Given the description of an element on the screen output the (x, y) to click on. 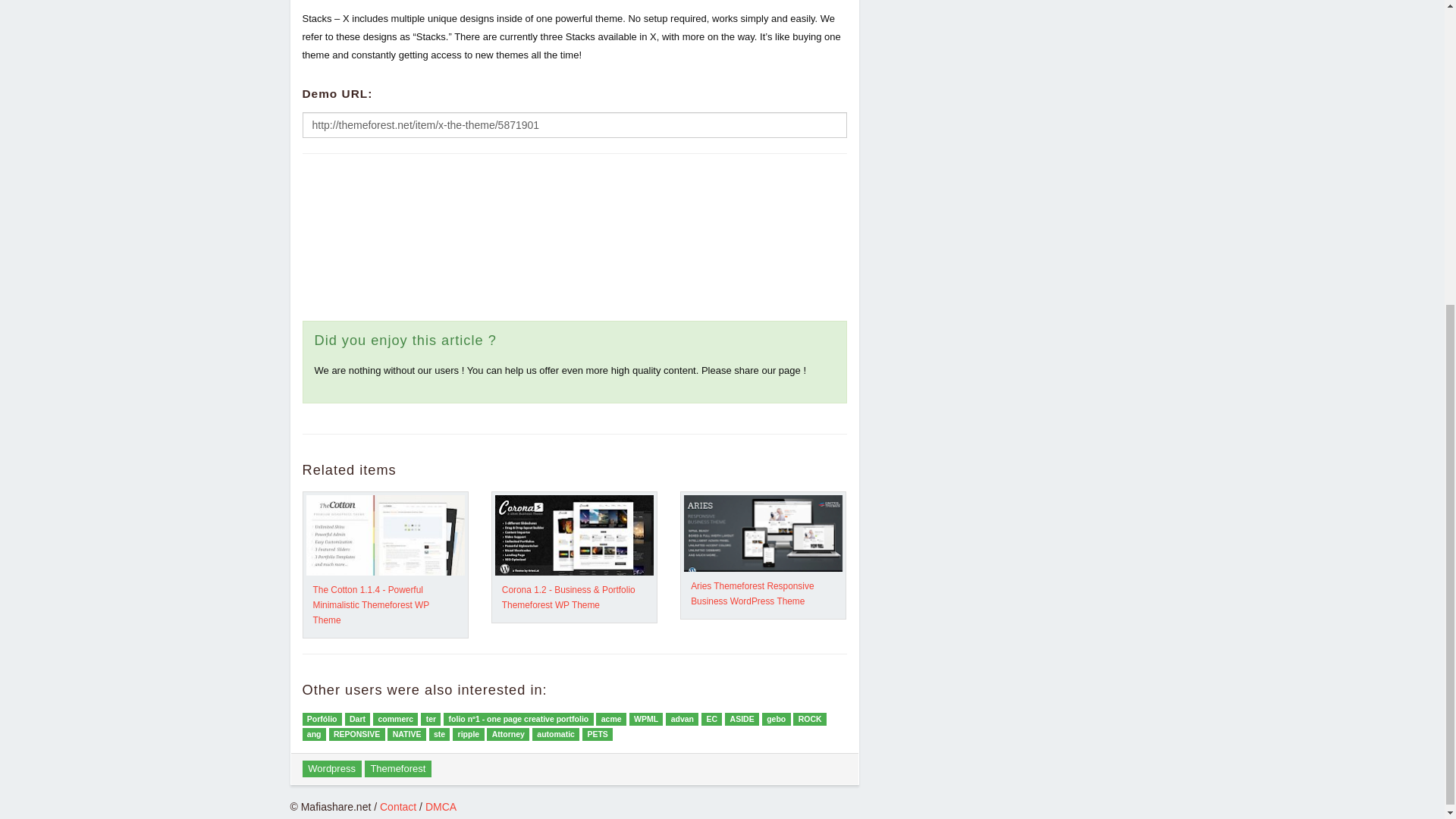
ASIDE (741, 718)
Aries Themeforest Responsive Business WordPress Theme (751, 592)
ter (430, 718)
acme (610, 718)
gebo (775, 718)
ROCK (810, 718)
REPONSIVE (357, 734)
commerc (394, 718)
Advertisement (1017, 23)
